Given the description of an element on the screen output the (x, y) to click on. 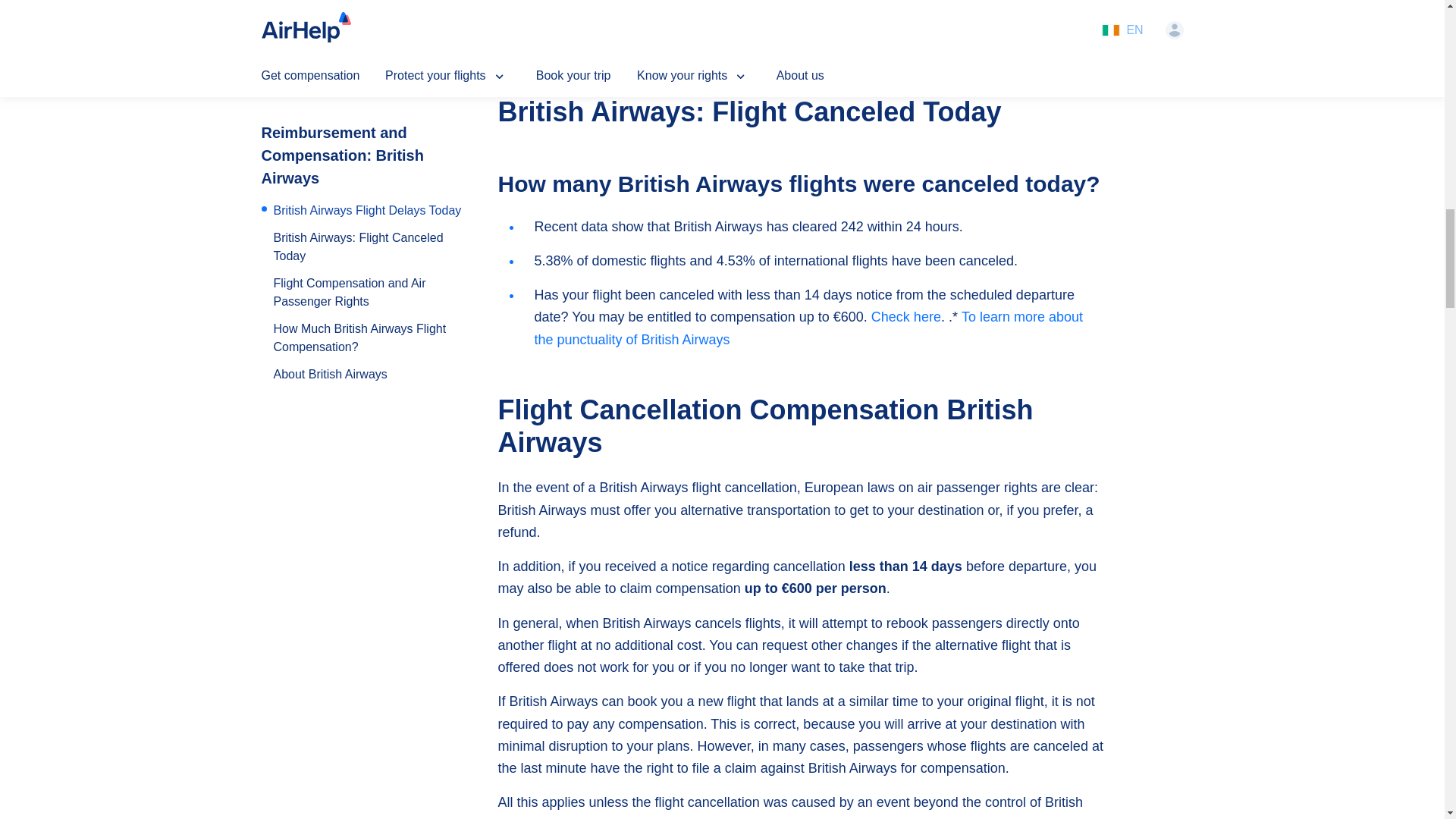
Check here (905, 316)
To learn more about the punctuality of British Airways (808, 327)
